Given the description of an element on the screen output the (x, y) to click on. 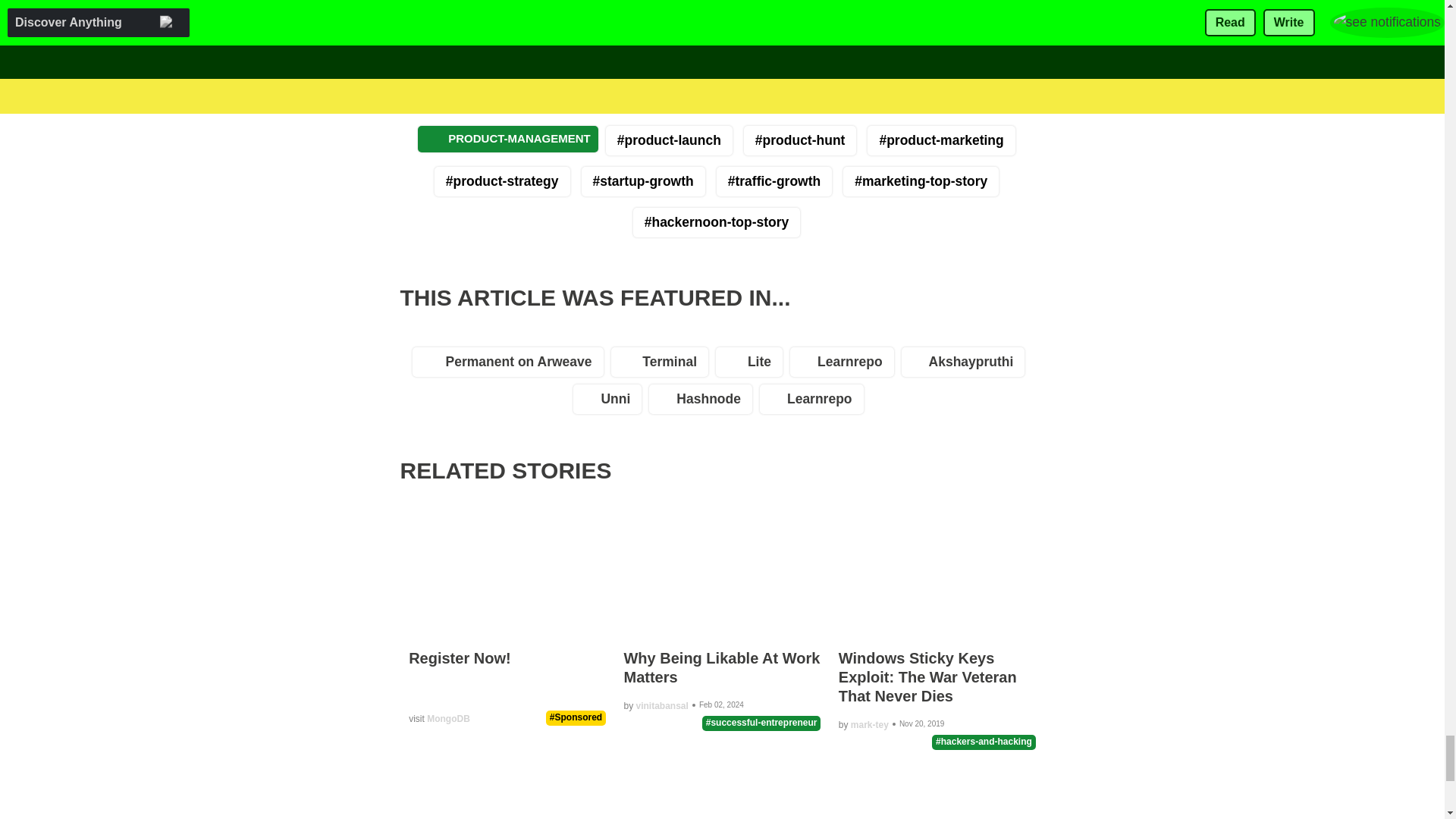
Read My Stories (584, 2)
PRODUCT-MANAGEMENT (507, 139)
Visit My Blog! (695, 2)
